Given the description of an element on the screen output the (x, y) to click on. 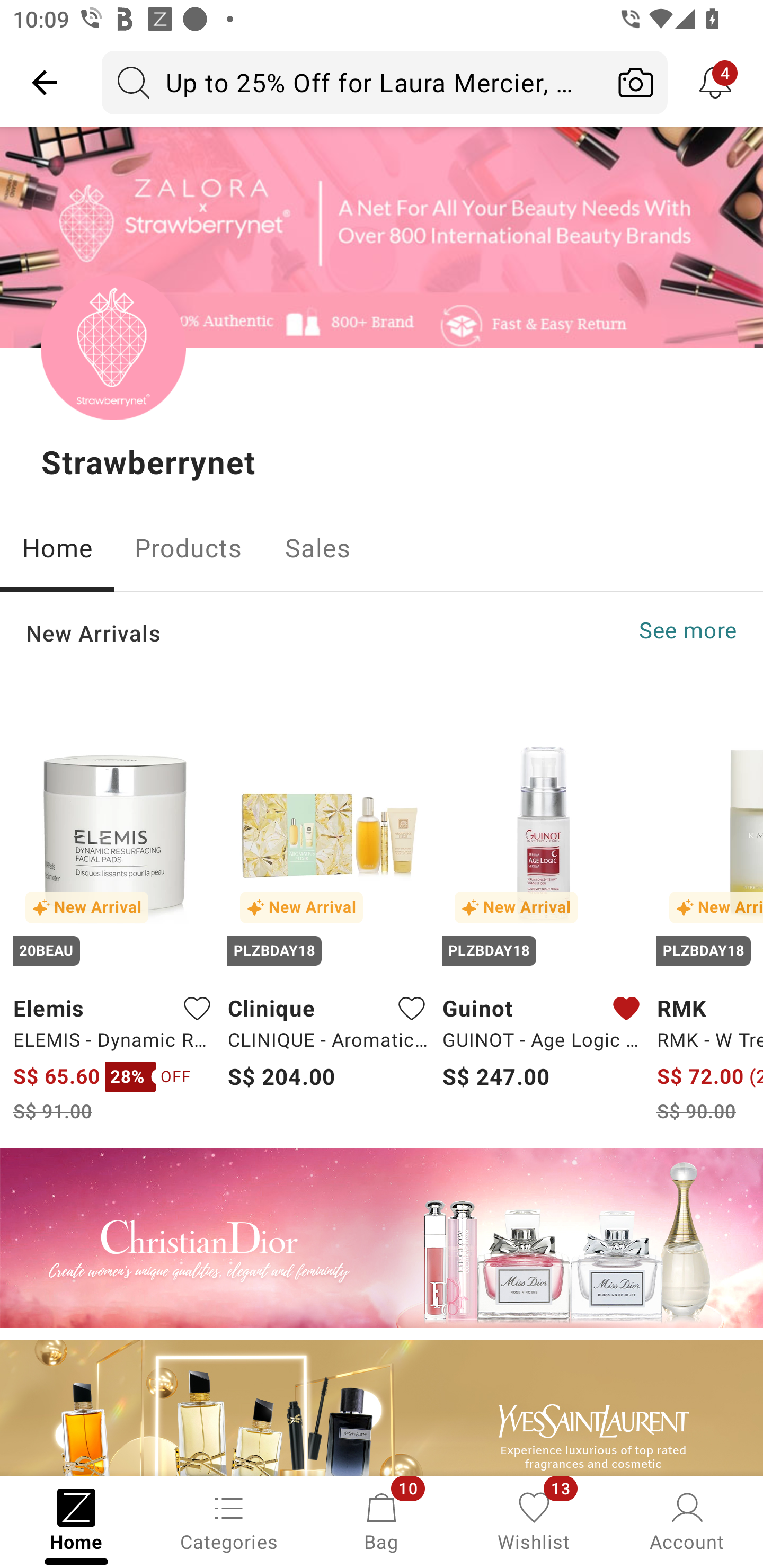
Navigate up (44, 82)
Products (187, 547)
Sales (317, 547)
See more (687, 630)
Categories (228, 1519)
Bag, 10 new notifications Bag (381, 1519)
Wishlist, 13 new notifications Wishlist (533, 1519)
Account (686, 1519)
